Given the description of an element on the screen output the (x, y) to click on. 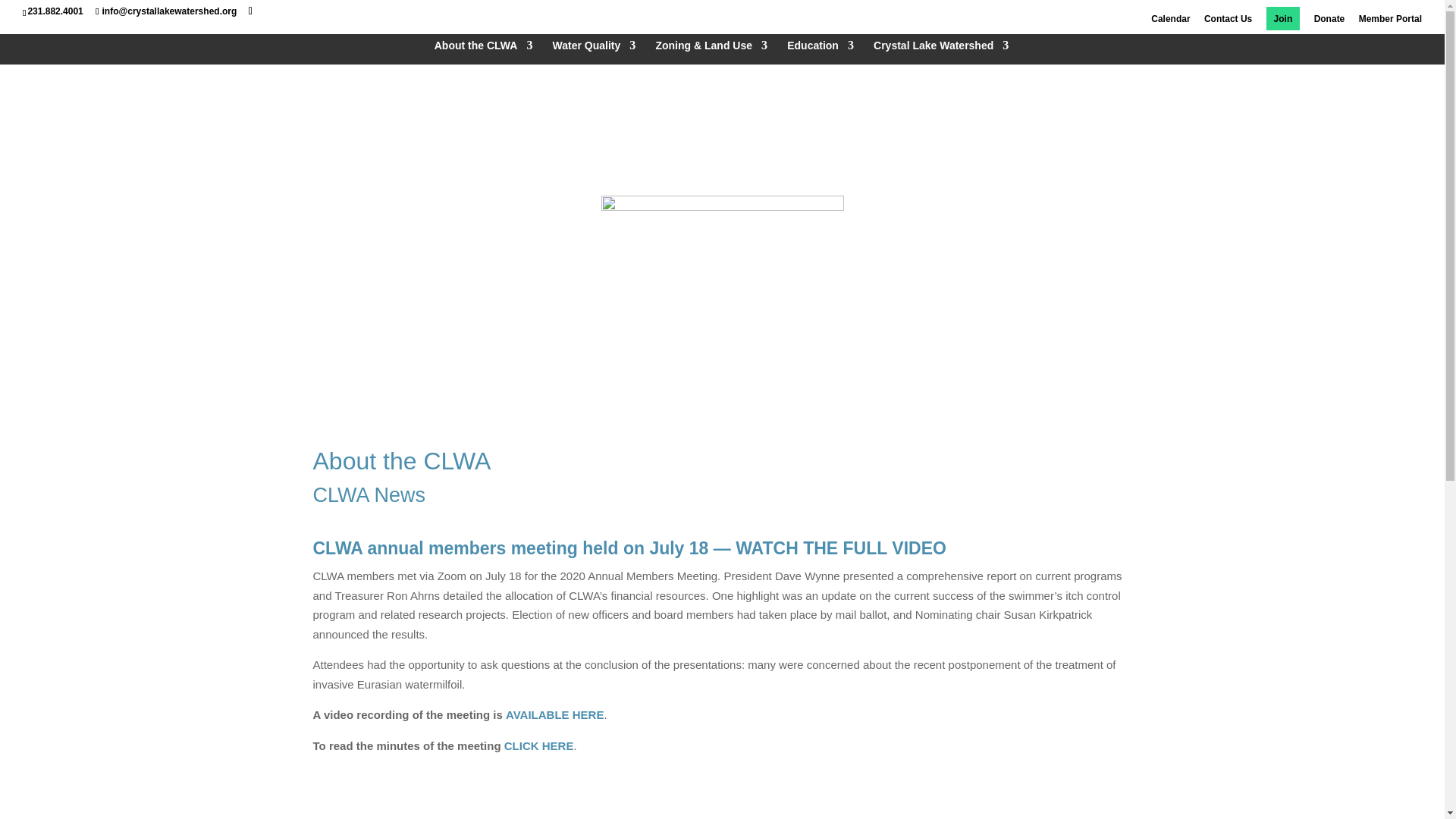
AVAILABLE HERE (554, 714)
Education (820, 52)
Water Quality (594, 52)
CLICK HERE (538, 745)
Crystal Lake Watershed (941, 52)
About the CLWA (482, 52)
Contact Us (1228, 22)
Donate (1329, 22)
Calendar (1170, 22)
Join (1283, 22)
Member Portal (1390, 22)
